Given the description of an element on the screen output the (x, y) to click on. 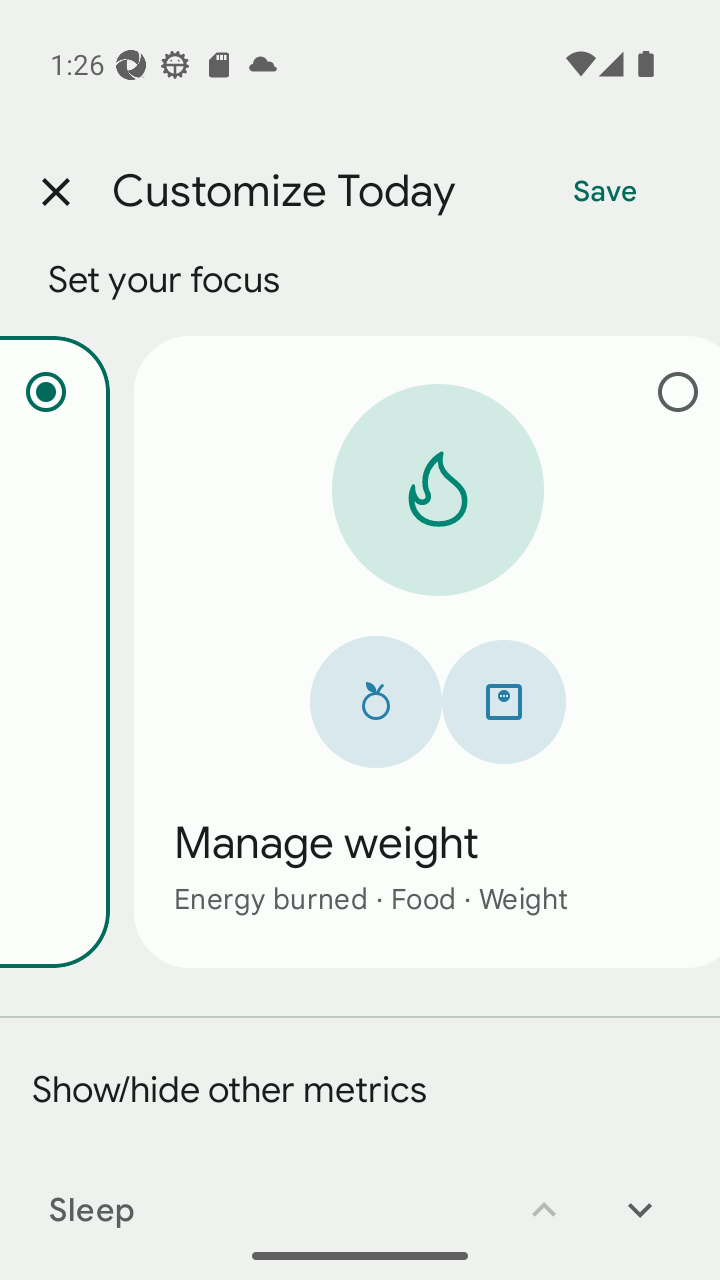
Close (55, 191)
Save (605, 191)
Manage weight Energy burned · Food · Weight (426, 651)
Move Sleep up (543, 1196)
Move Sleep down (639, 1196)
